Given the description of an element on the screen output the (x, y) to click on. 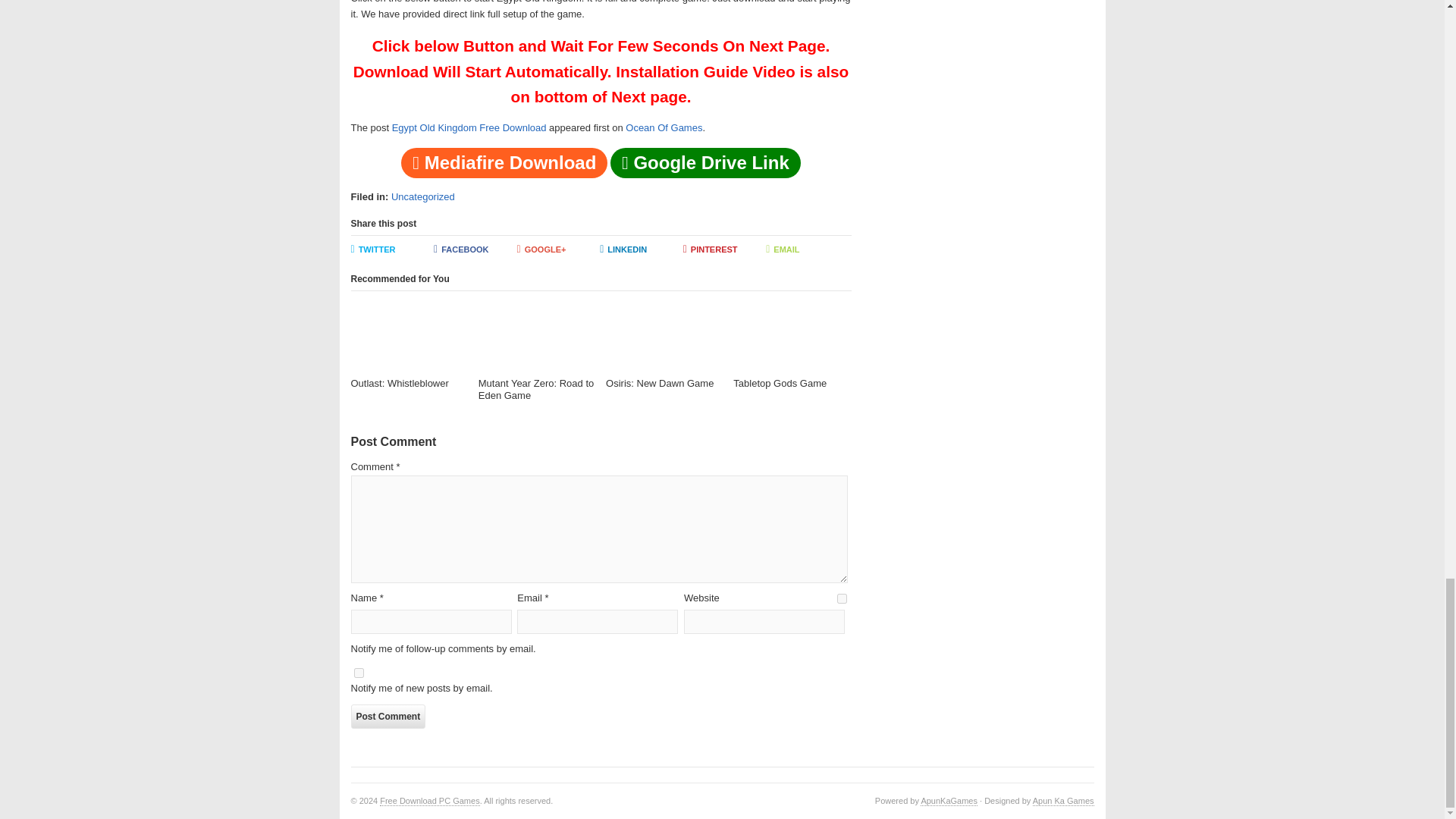
Mutant Year Zero: Road to Eden Game 6 (537, 335)
PINTEREST (724, 250)
Egypt Old Kingdom Free Download (469, 127)
Mediafire Download Google Drive Link (600, 165)
EMAIL (806, 250)
LINKEDIN (640, 250)
Google Drive Link (705, 163)
Uncategorized (422, 196)
Outlast: Whistleblower (408, 345)
Tabletop Gods Game 8 (791, 335)
subscribe (357, 673)
Outlast: Whistleblower 5 (408, 335)
Osiris: New Dawn Game 7 (664, 335)
FACEBOOK (474, 250)
Post Comment (387, 716)
